Given the description of an element on the screen output the (x, y) to click on. 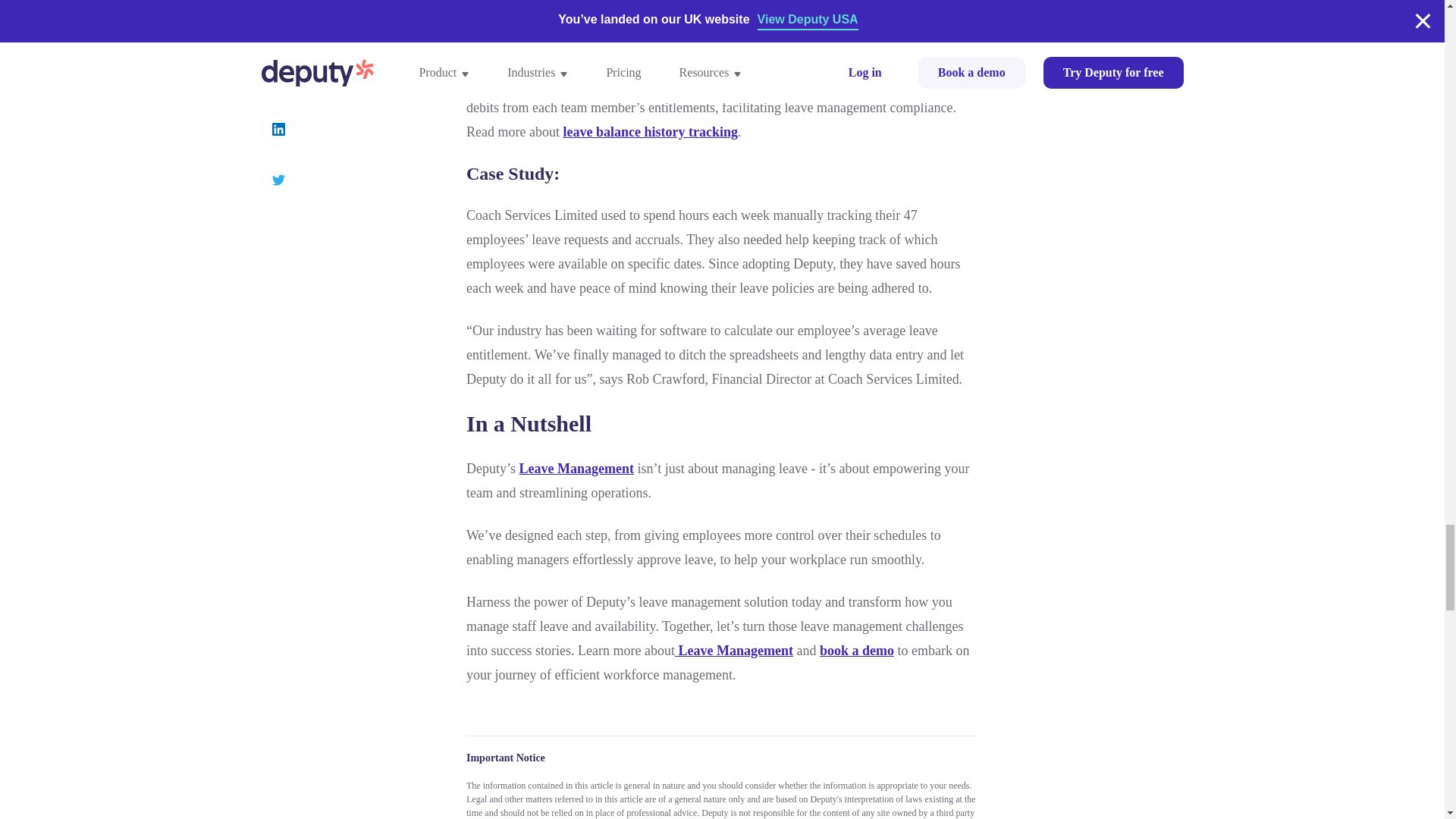
leave balance history tracking (649, 131)
